Given the description of an element on the screen output the (x, y) to click on. 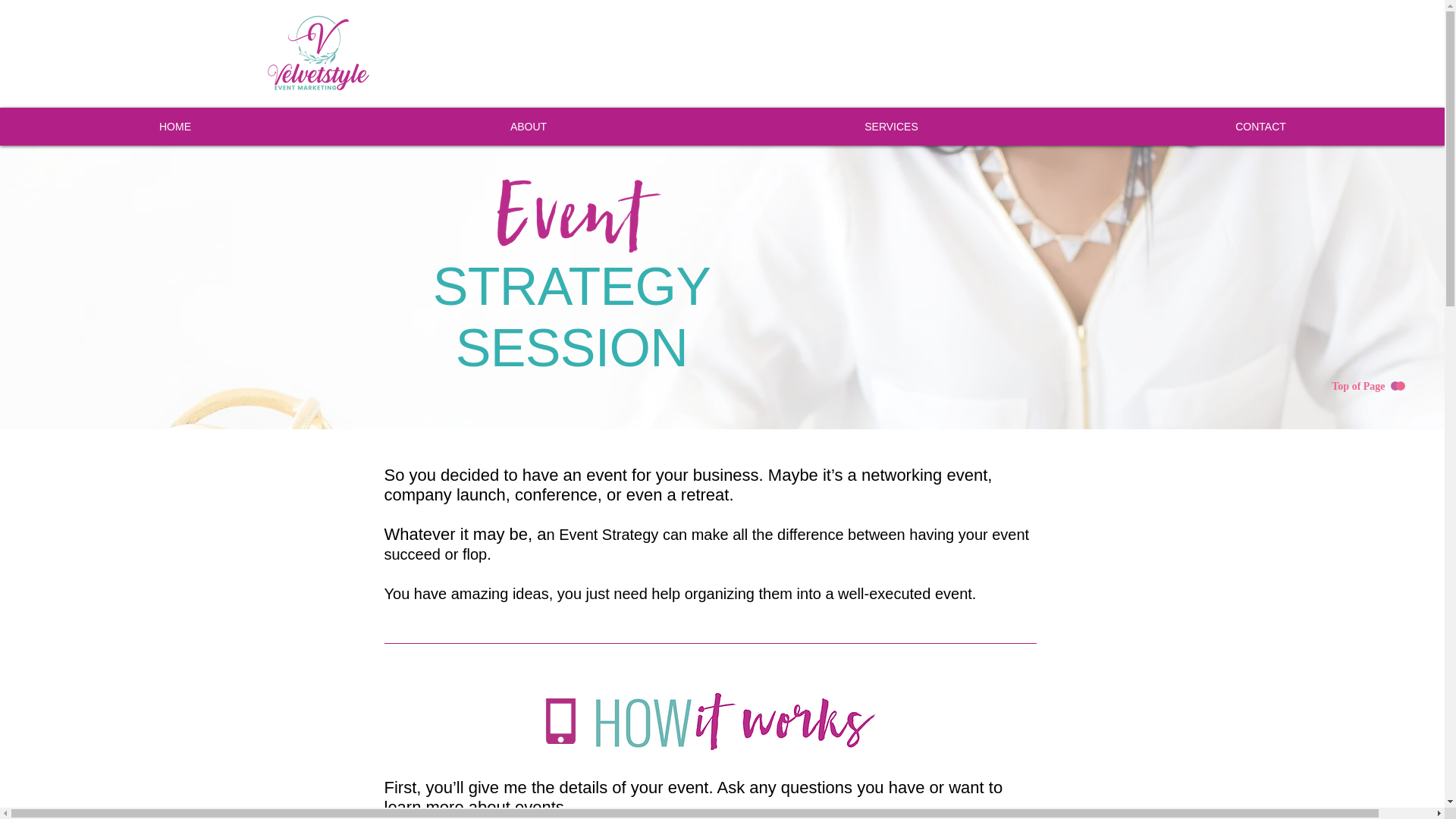
ABOUT (528, 126)
CONTACT (1259, 126)
HOME (175, 126)
Top of Page (1364, 386)
SERVICES (890, 126)
